Given the description of an element on the screen output the (x, y) to click on. 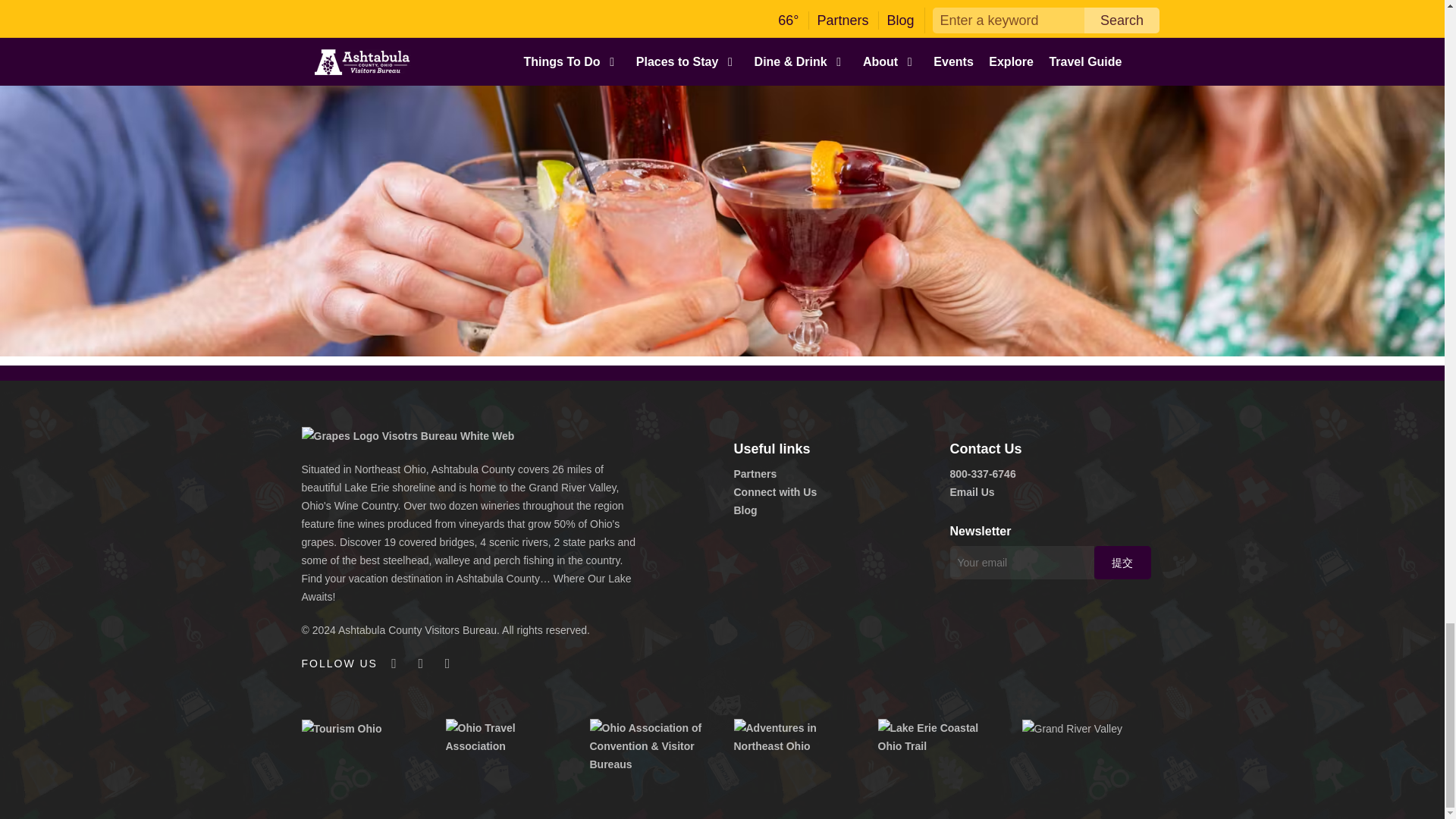
Sweets (705, 295)
Double Wing Brewing Co. (563, 145)
White Turkey Drive-In (603, 258)
Coffee Shops (494, 295)
